Given the description of an element on the screen output the (x, y) to click on. 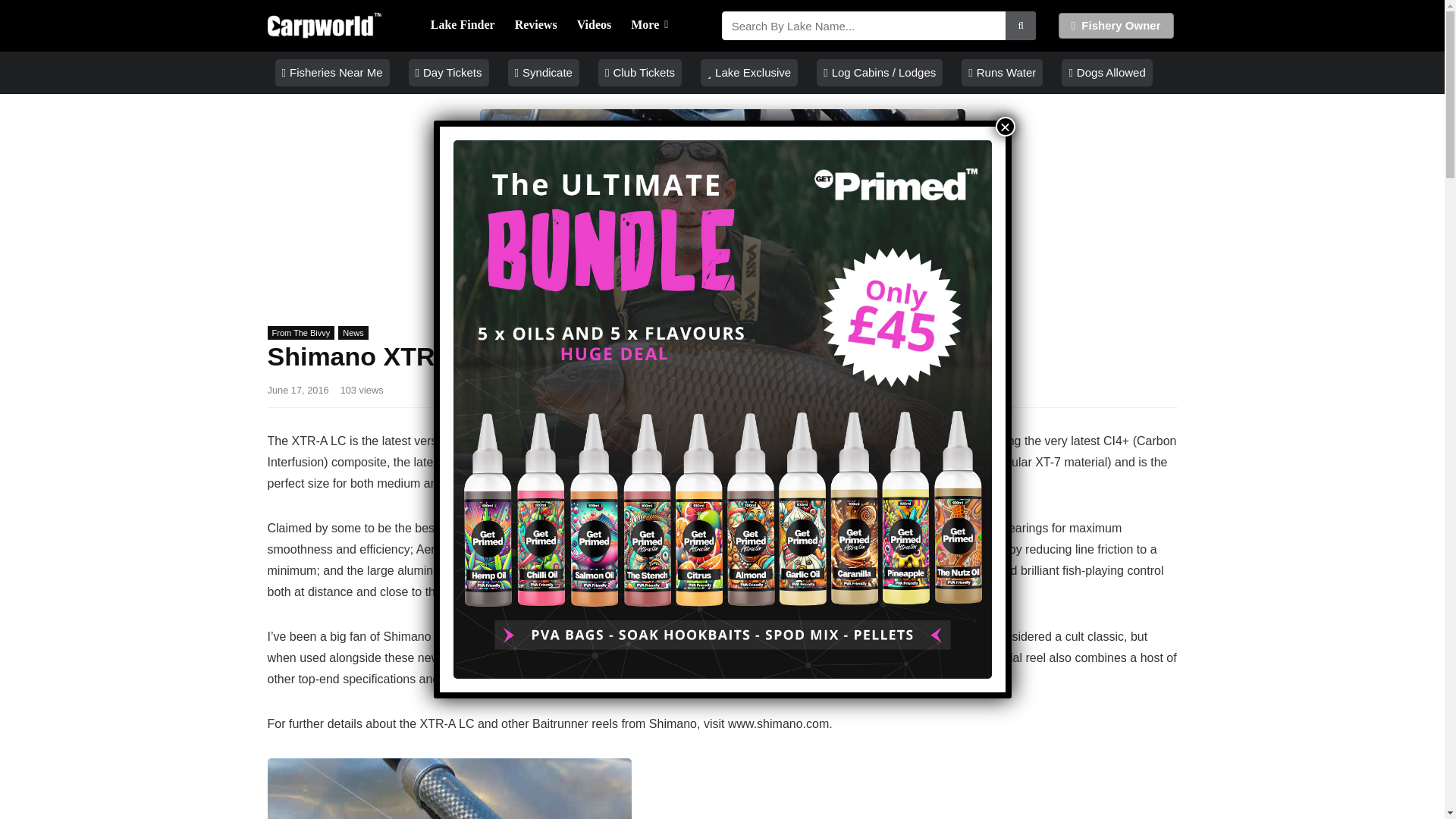
Club Tickets (639, 72)
Dogs Allowed (1106, 72)
Carp Fishing Tackle Reviews (536, 25)
Videos (594, 25)
Reviews (536, 25)
Fisheries Near Me (331, 72)
Fishery Owner (1115, 25)
Lake Exclusive (748, 72)
Day Tickets (449, 72)
Runs Water (1001, 72)
